Given the description of an element on the screen output the (x, y) to click on. 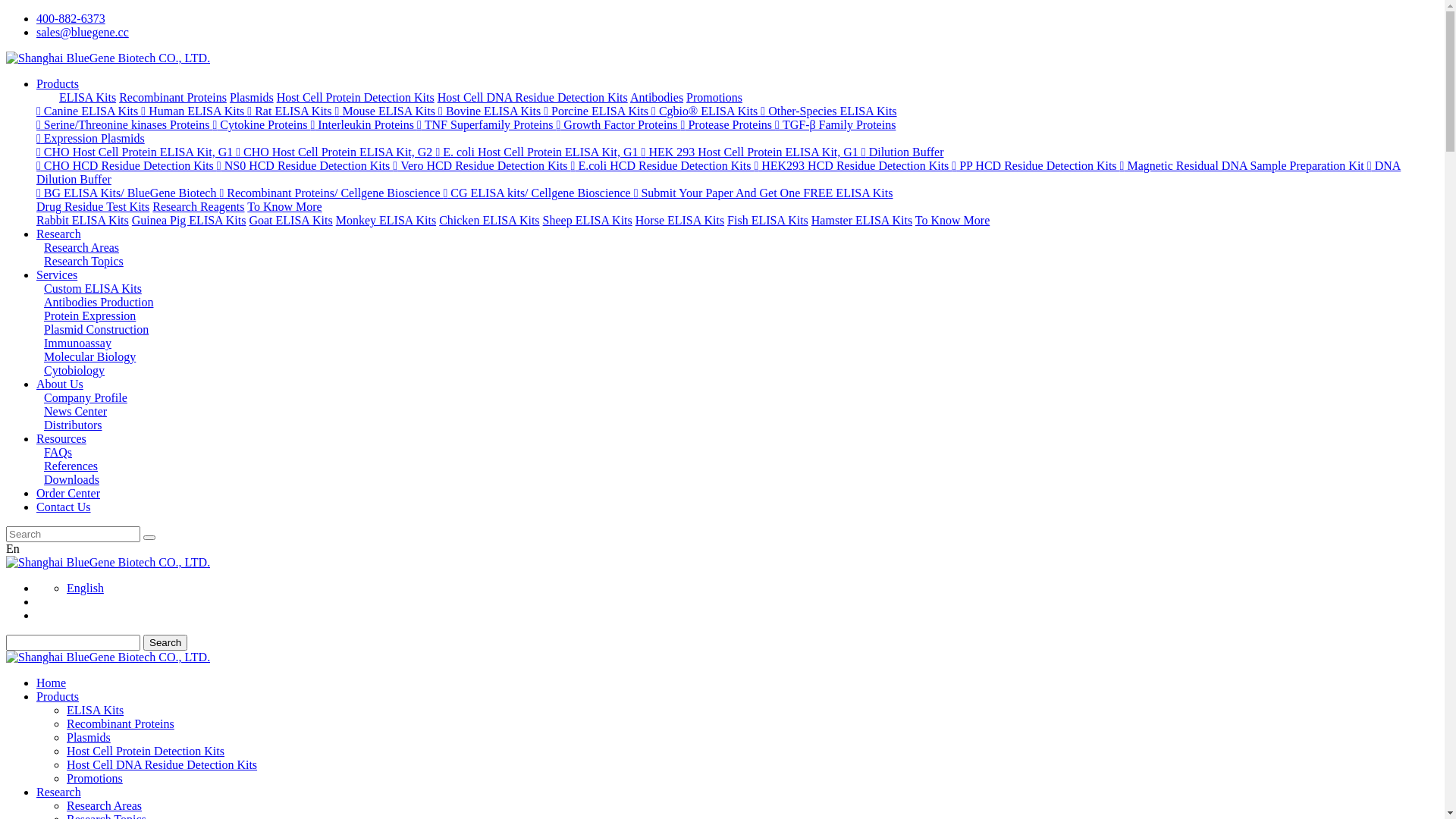
Protein Expression Element type: text (85, 315)
To Know More Element type: text (952, 219)
Company Profile Element type: text (81, 397)
Order Center Element type: text (68, 492)
Fish ELISA Kits Element type: text (767, 219)
Products Element type: text (57, 83)
English Element type: text (84, 587)
Research Areas Element type: text (103, 805)
Promotions Element type: text (94, 777)
Research Element type: text (58, 791)
Shanghai BlueGene Biotech CO., LTD. Element type: hover (108, 657)
About Us Element type: text (59, 383)
Resources Element type: text (61, 438)
Plasmids Element type: text (88, 737)
Antibodies Element type: text (656, 97)
Immunoassay Element type: text (73, 342)
Distributors Element type: text (68, 424)
Plasmids Element type: text (251, 97)
Shanghai BlueGene Biotech CO., LTD. Element type: hover (108, 562)
Research Topics Element type: text (79, 260)
Promotions Element type: text (714, 97)
Chicken ELISA Kits Element type: text (489, 219)
To Know More Element type: text (284, 206)
Hamster ELISA Kits Element type: text (861, 219)
Host Cell DNA Residue Detection Kits Element type: text (161, 764)
Downloads Element type: text (67, 479)
Custom ELISA Kits Element type: text (88, 288)
Horse ELISA Kits Element type: text (679, 219)
Molecular Biology Element type: text (85, 356)
Monkey ELISA Kits Element type: text (385, 219)
Cytobiology Element type: text (70, 370)
Search Element type: text (165, 642)
References Element type: text (66, 465)
Goat ELISA Kits Element type: text (290, 219)
Contact Us Element type: text (63, 506)
Drug Residue Test Kits Element type: text (92, 206)
Plasmid Construction Element type: text (92, 329)
FAQs Element type: text (54, 451)
Guinea Pig ELISA Kits Element type: text (188, 219)
ELISA Kits Element type: text (94, 709)
Rabbit ELISA Kits Element type: text (82, 219)
400-882-6373 Element type: text (70, 18)
Antibodies Production Element type: text (94, 301)
Products Element type: text (57, 696)
Services Element type: text (56, 274)
Sheep ELISA Kits Element type: text (587, 219)
Recombinant Proteins Element type: text (120, 723)
Host Cell Protein Detection Kits Element type: text (355, 97)
Shanghai BlueGene Biotech CO., LTD. Element type: hover (108, 58)
sales@bluegene.cc Element type: text (82, 31)
Host Cell DNA Residue Detection Kits Element type: text (532, 97)
Research Reagents Element type: text (198, 206)
ELISA Kits Element type: text (87, 97)
Research Areas Element type: text (77, 247)
Host Cell Protein Detection Kits Element type: text (145, 750)
Recombinant Proteins Element type: text (172, 97)
Research Element type: text (58, 233)
Home Element type: text (50, 682)
News Center Element type: text (71, 410)
